Given the description of an element on the screen output the (x, y) to click on. 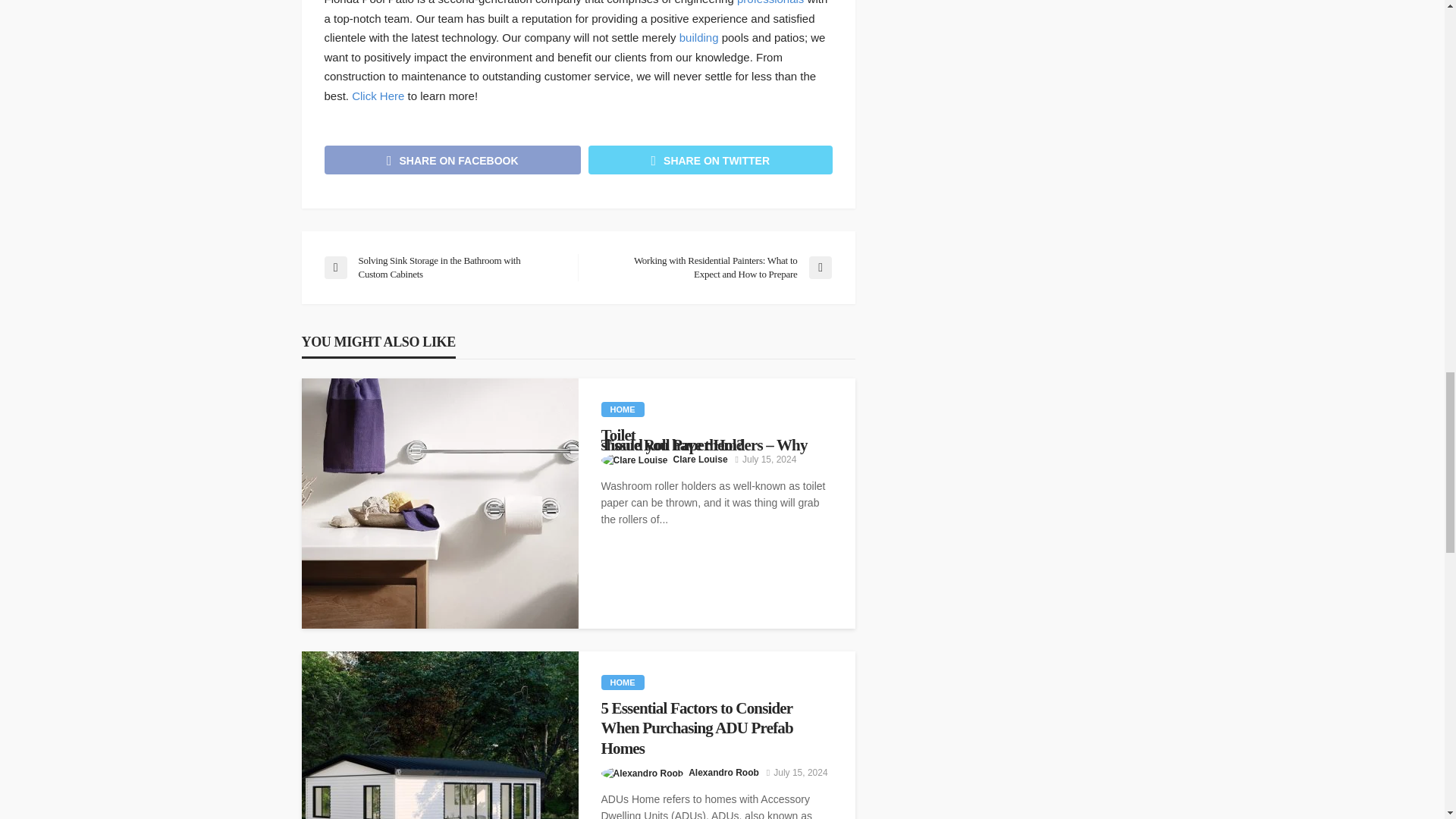
Click Here (378, 95)
Posts tagged with building (699, 37)
HOME (621, 682)
HOME (621, 409)
SHARE ON TWITTER (709, 159)
Solving Sink Storage in the Bathroom with Custom Cabinets (443, 267)
Solving Sink Storage in the Bathroom with Custom Cabinets (443, 267)
Home (621, 409)
Clare Louise (700, 459)
SHARE ON FACEBOOK (452, 159)
Toilet (715, 435)
Posts tagged with professionals (769, 2)
building (699, 37)
